Given the description of an element on the screen output the (x, y) to click on. 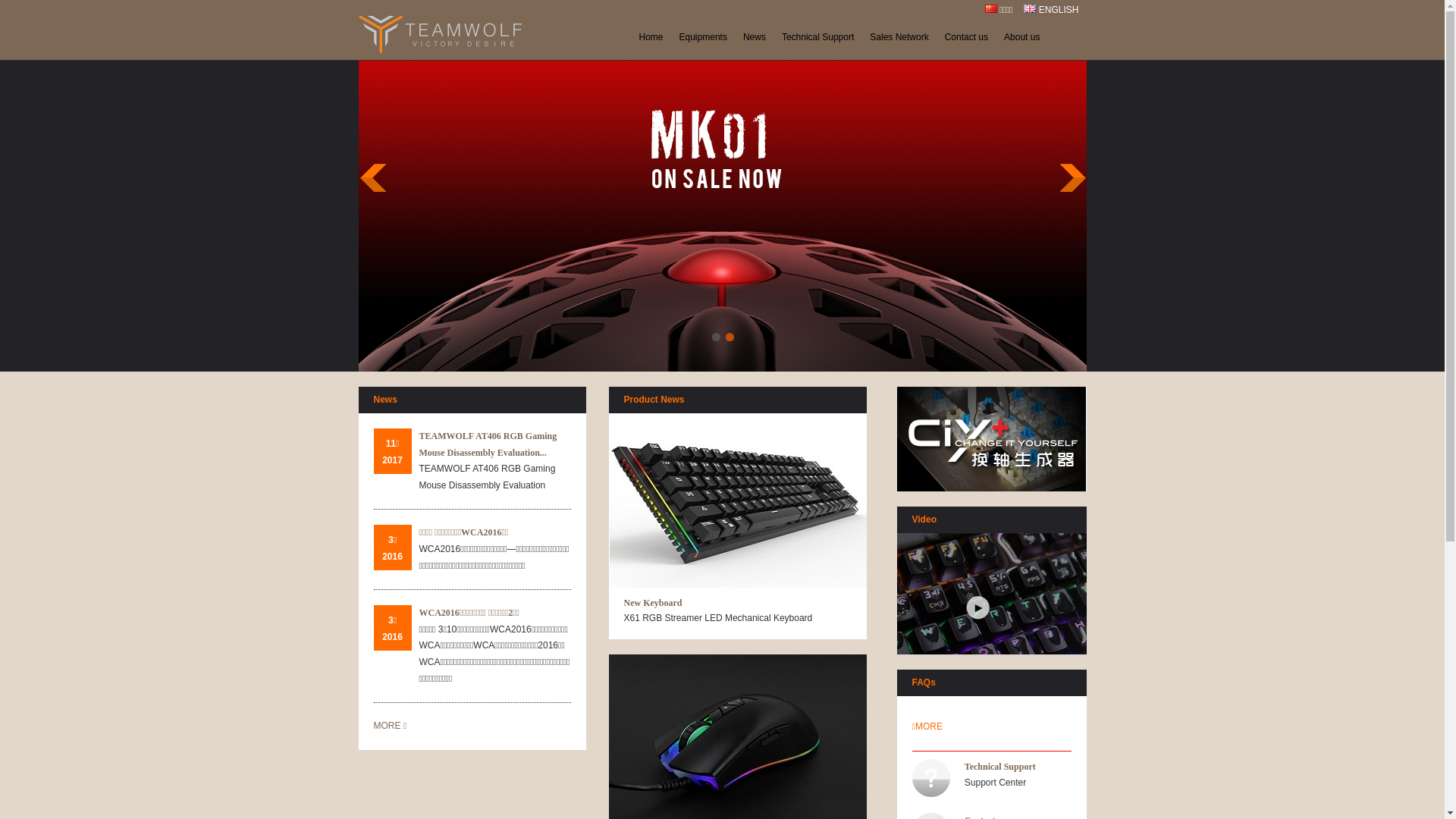
News Element type: text (754, 37)
Equipments Element type: text (702, 37)
Home Element type: text (650, 37)
TEAMWOLF AT406 RGB Gaming Mouse Disassembly Evaluation... Element type: text (487, 444)
tmall Element type: hover (990, 438)
Contact us Element type: text (966, 37)
Teamwolf LukerMK01 Element type: hover (721, 368)
About us Element type: text (1021, 37)
New Keyboard Element type: text (652, 602)
Sales Network Element type: text (898, 37)
Technical Support Element type: text (817, 37)
Technical Support Element type: text (999, 766)
